Given the description of an element on the screen output the (x, y) to click on. 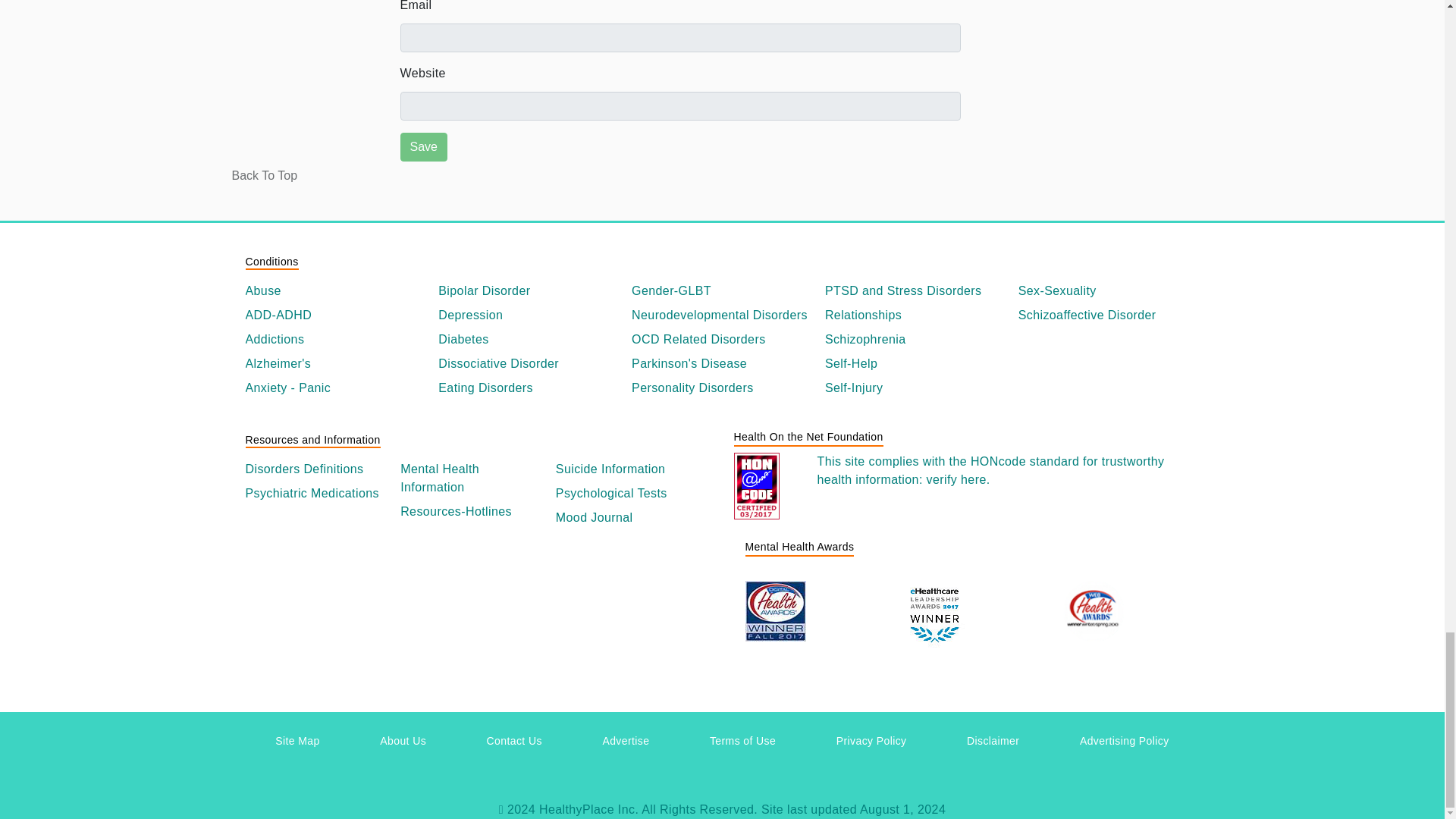
Parkinson's Disease Information Articles (721, 363)
